Given the description of an element on the screen output the (x, y) to click on. 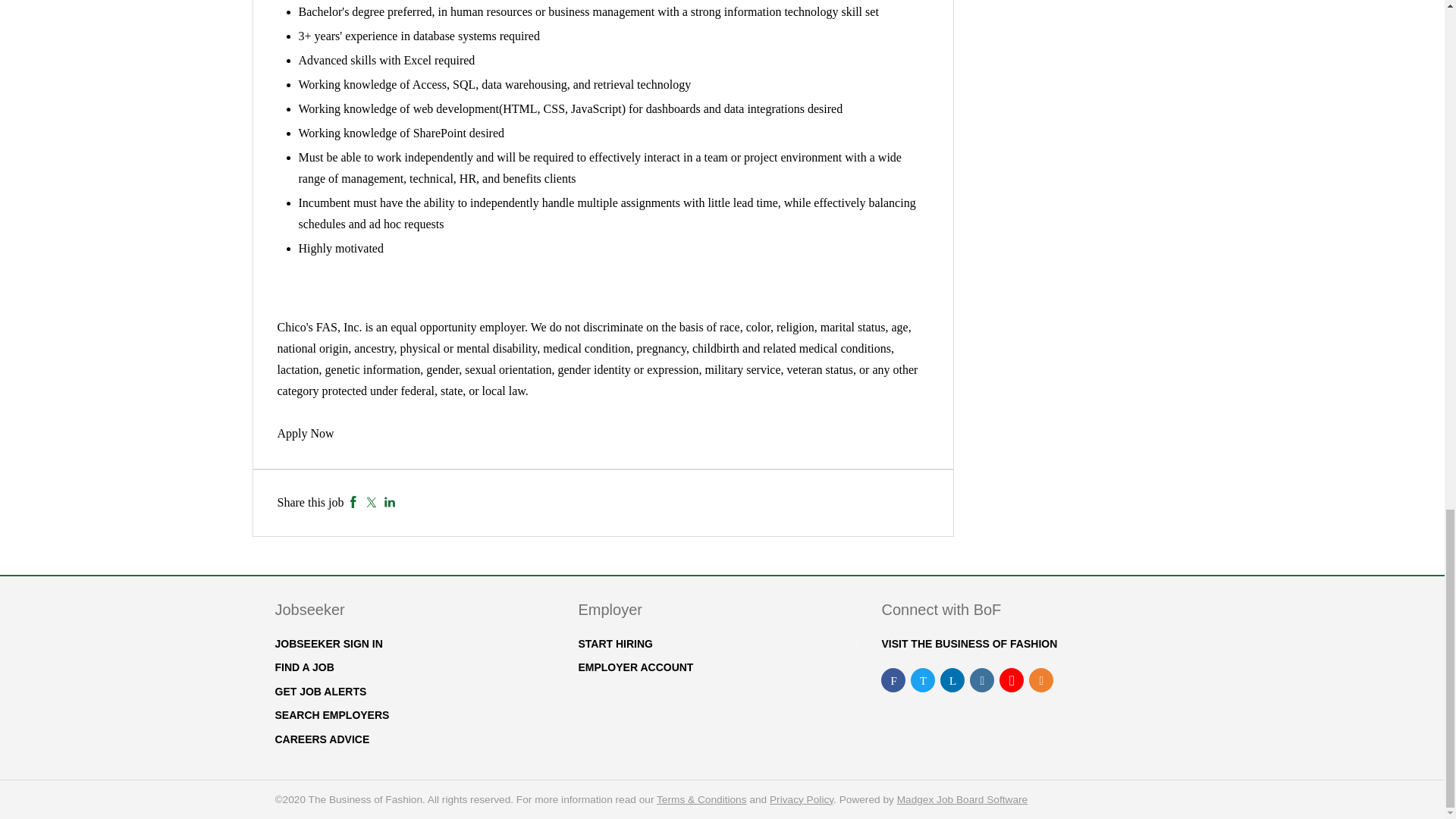
FIND A JOB (304, 666)
GET JOB ALERTS (320, 691)
Facebook (353, 502)
JOBSEEKER SIGN IN (328, 644)
SEARCH EMPLOYERS (331, 715)
LinkedIn (390, 502)
Twitter (371, 502)
